Given the description of an element on the screen output the (x, y) to click on. 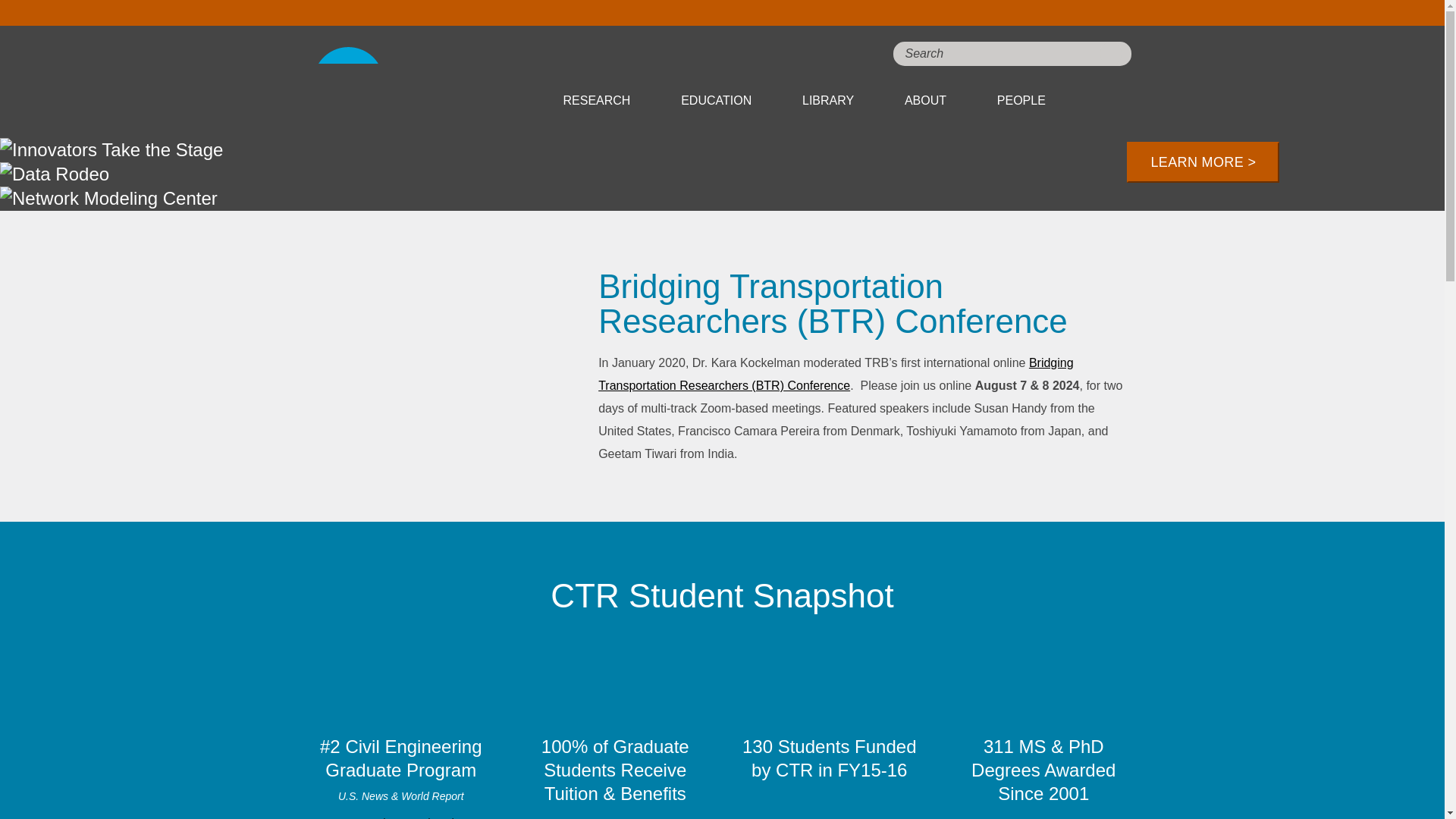
RESEARCH (596, 100)
enter terms to search website (1012, 53)
EDUCATION (716, 100)
ABOUT (925, 100)
LIBRARY (827, 100)
TxDOT Research Library operated by CTR Library (827, 100)
